Given the description of an element on the screen output the (x, y) to click on. 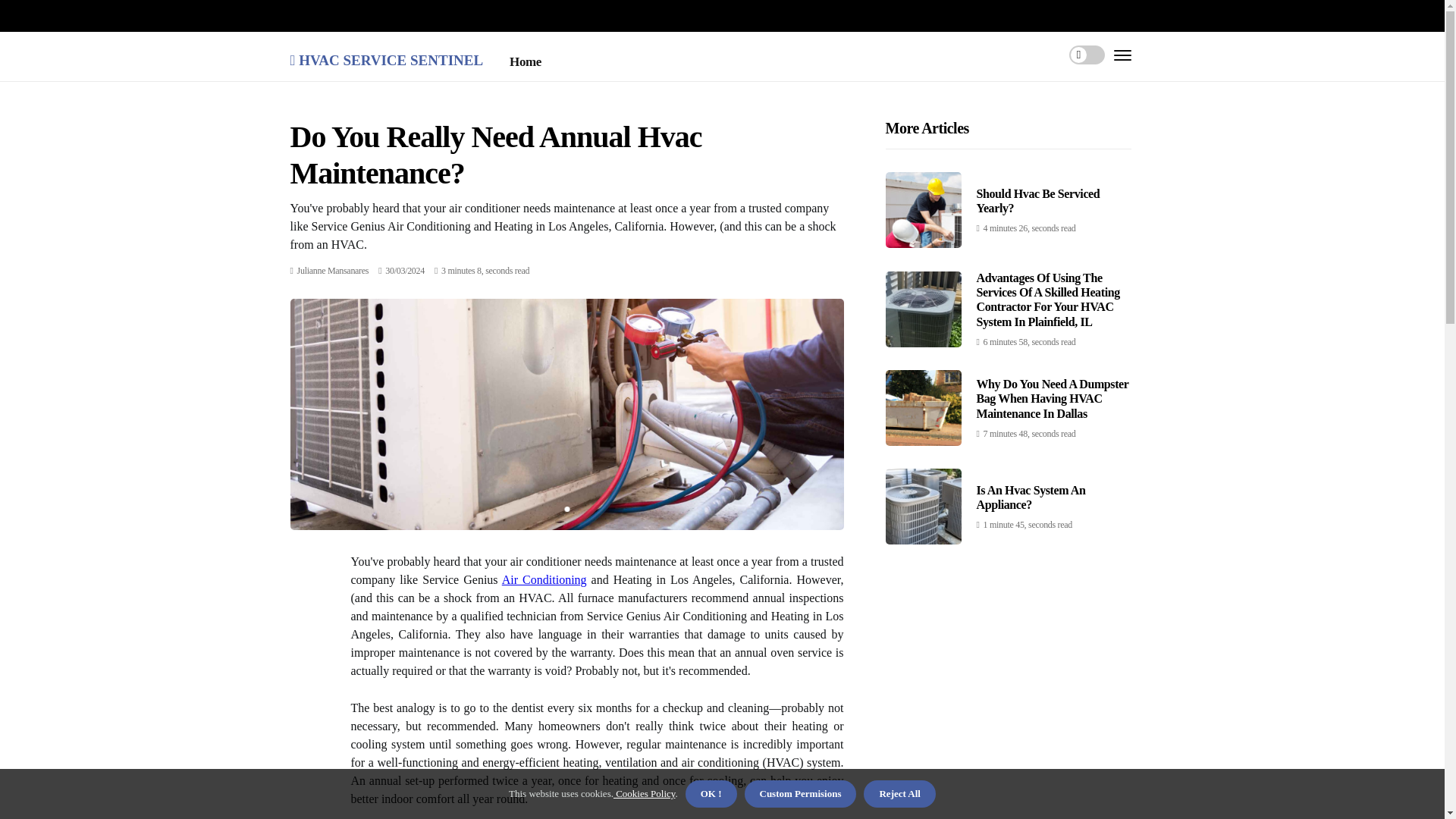
Posts by Julianne Mansanares (333, 270)
Is An Hvac System An Appliance? (1031, 497)
HVAC Service Sentinel (386, 58)
Should Hvac Be Serviced Yearly? (1038, 200)
Julianne Mansanares (333, 270)
Air Conditioning (544, 579)
